Given the description of an element on the screen output the (x, y) to click on. 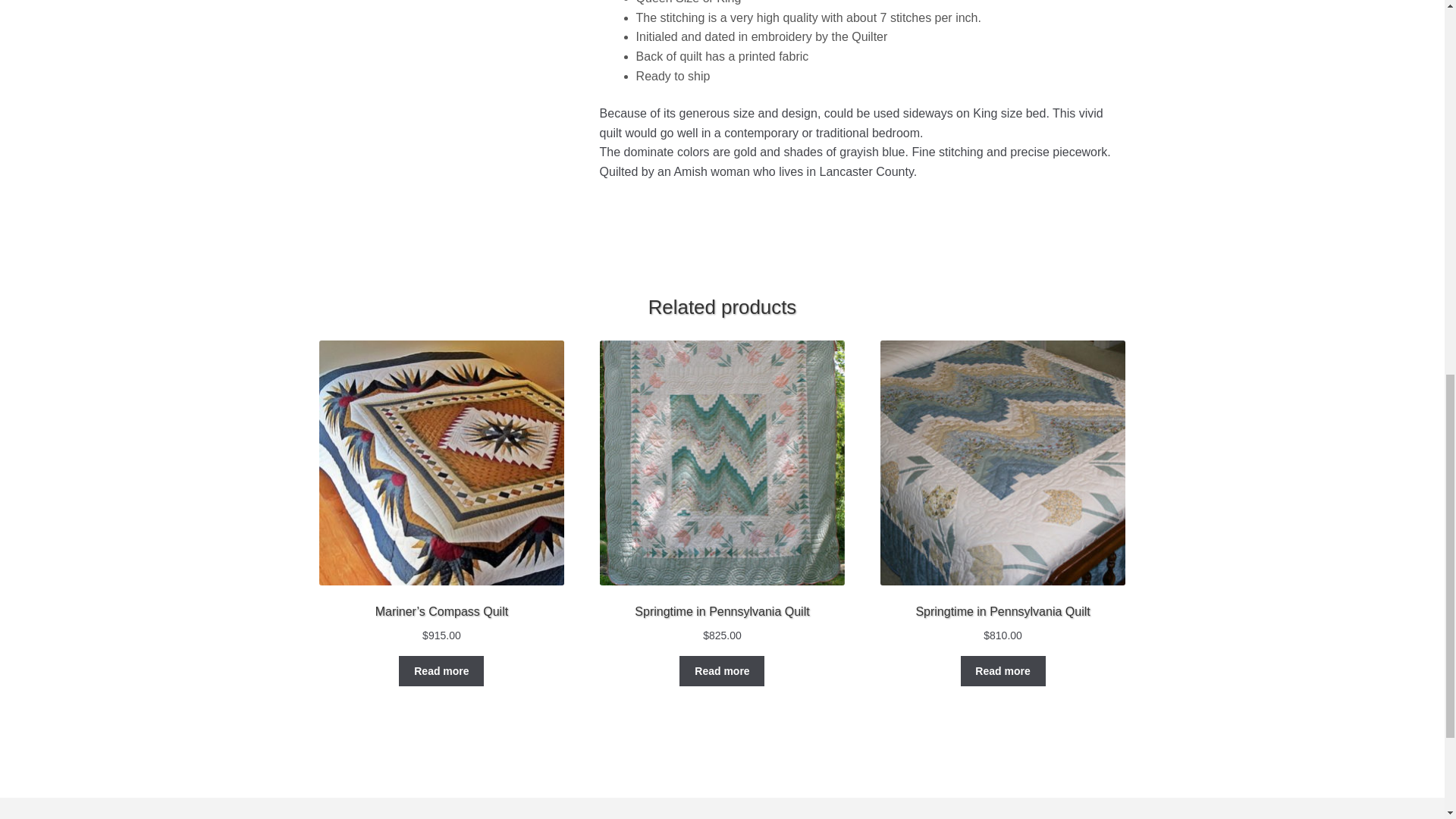
Read more (440, 671)
Read more (1002, 671)
Read more (721, 671)
